Given the description of an element on the screen output the (x, y) to click on. 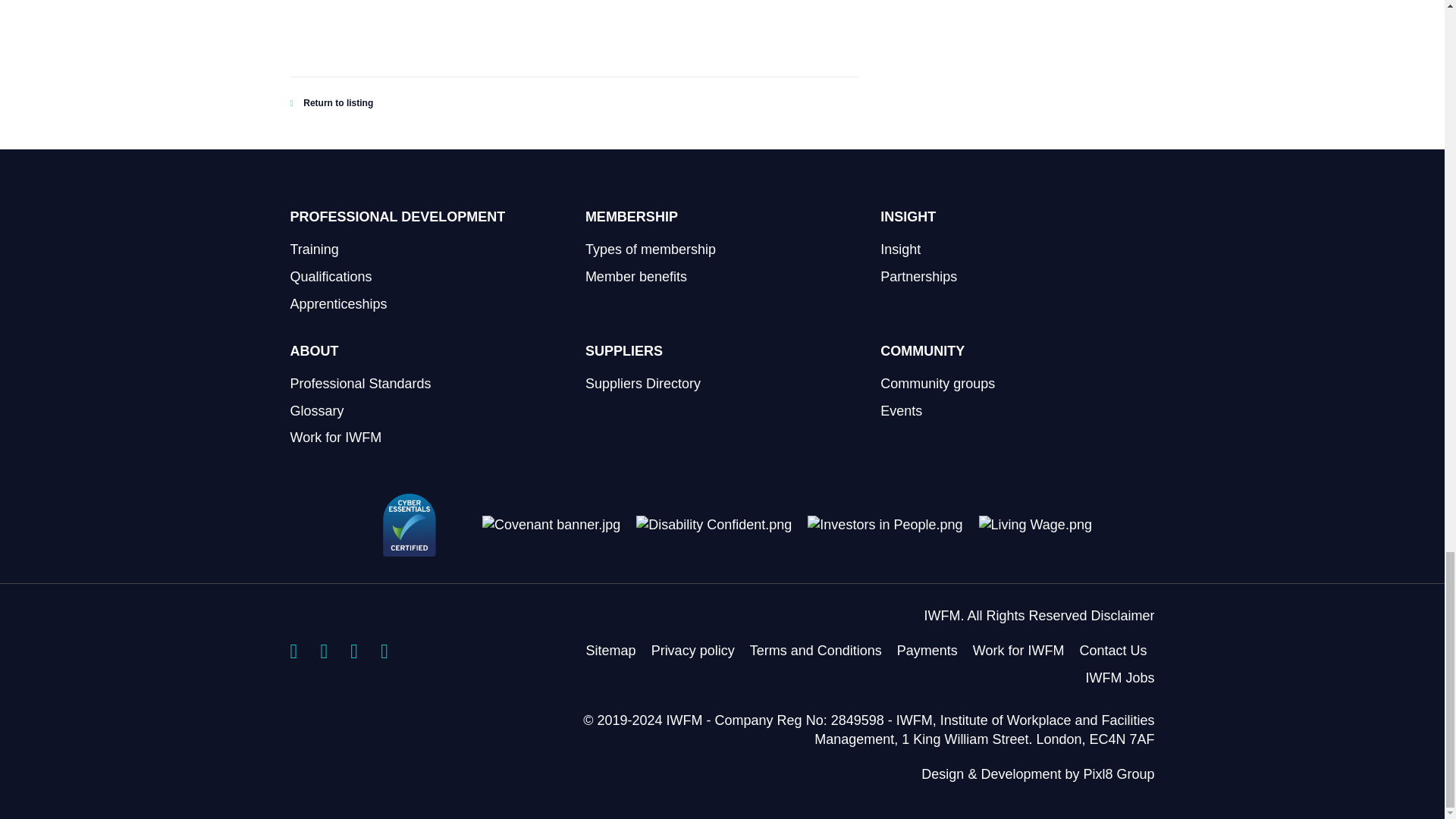
Privacy policy (692, 650)
Sitemap (611, 650)
Glossary (316, 410)
Events (900, 410)
Professional Standards (359, 383)
IWFM Jobs (1119, 677)
Payments (927, 650)
Member benefits (636, 276)
Contact Us (1112, 650)
Work for IWFM (335, 437)
Community groups (937, 383)
Work for IWFM (1018, 650)
Types of membership (650, 249)
Suppliers Directory (642, 383)
